Given the description of an element on the screen output the (x, y) to click on. 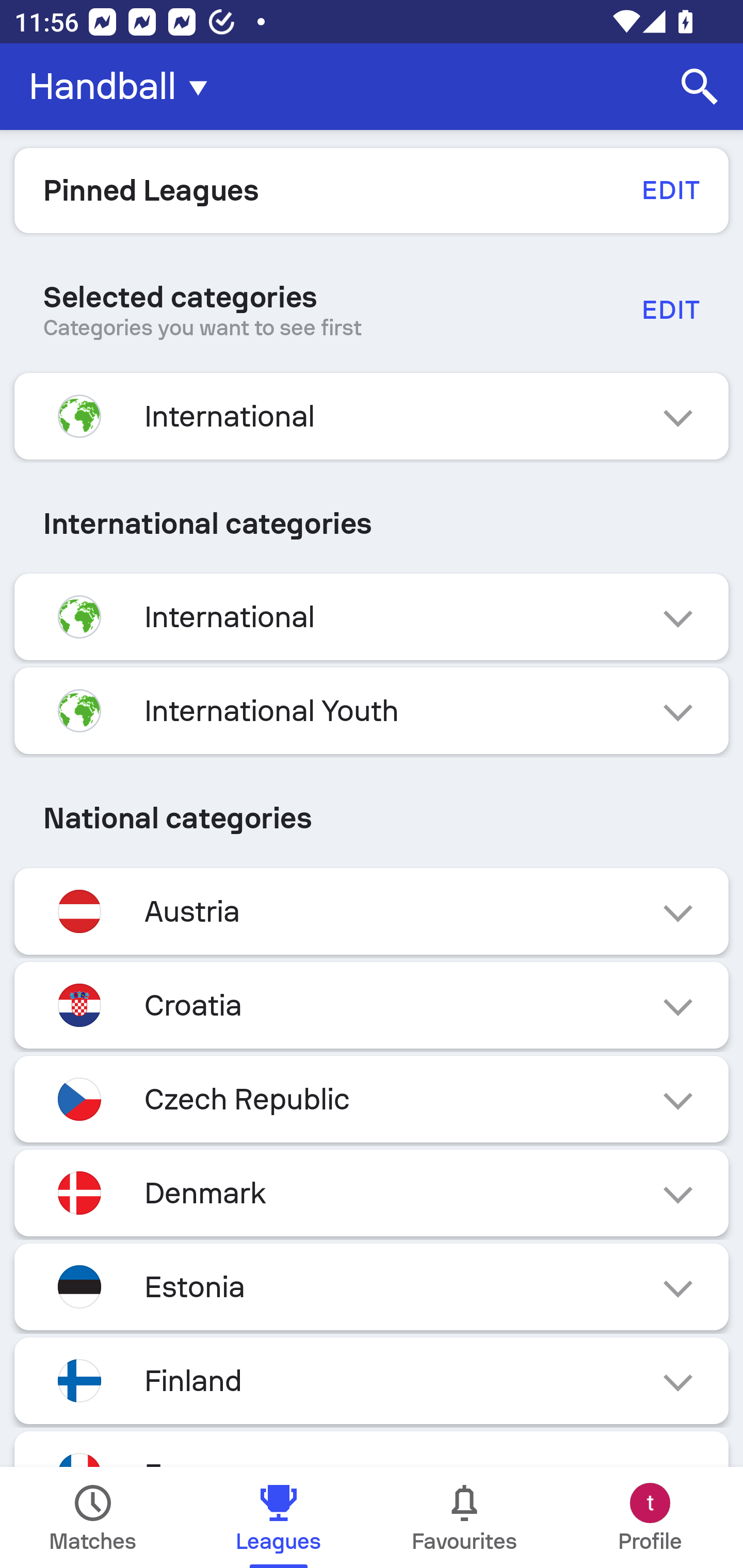
Handball (124, 86)
Search (699, 86)
Pinned Leagues EDIT (371, 190)
EDIT (670, 190)
EDIT (670, 309)
International (371, 416)
International categories (371, 523)
International (371, 616)
International Youth (371, 710)
National categories (371, 817)
Austria (371, 911)
Croatia (371, 1004)
Czech Republic (371, 1099)
Denmark (371, 1192)
Estonia (371, 1286)
Finland (371, 1380)
Matches (92, 1517)
Favourites (464, 1517)
Profile (650, 1517)
